Given the description of an element on the screen output the (x, y) to click on. 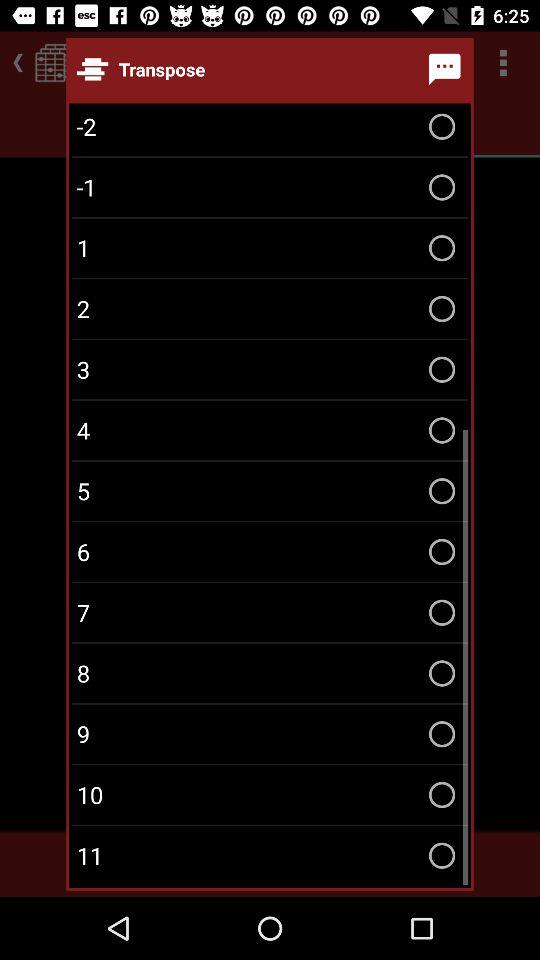
open the 11 (269, 855)
